Given the description of an element on the screen output the (x, y) to click on. 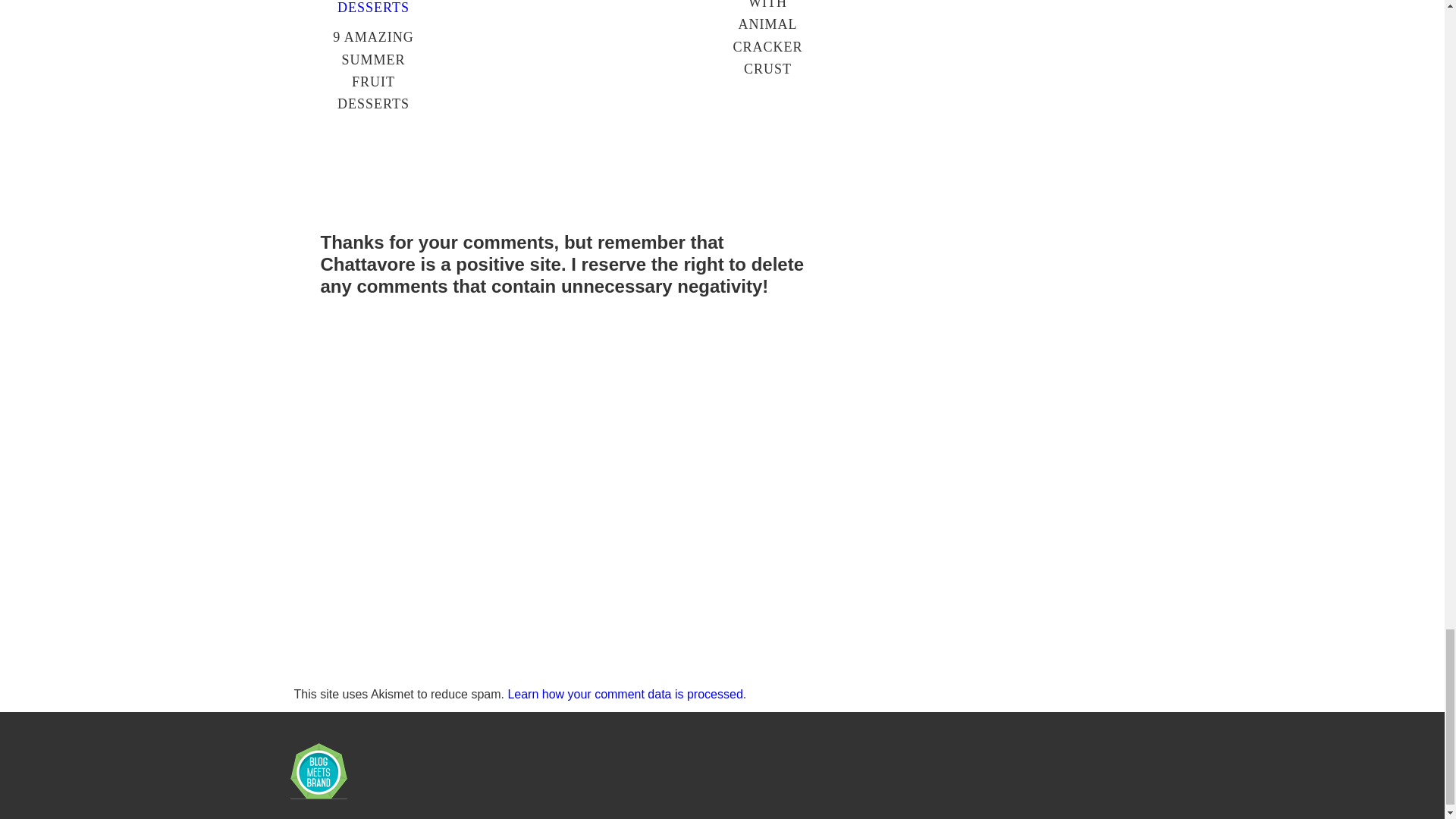
9 Amazing Summer Fruit Desserts (373, 7)
